Given the description of an element on the screen output the (x, y) to click on. 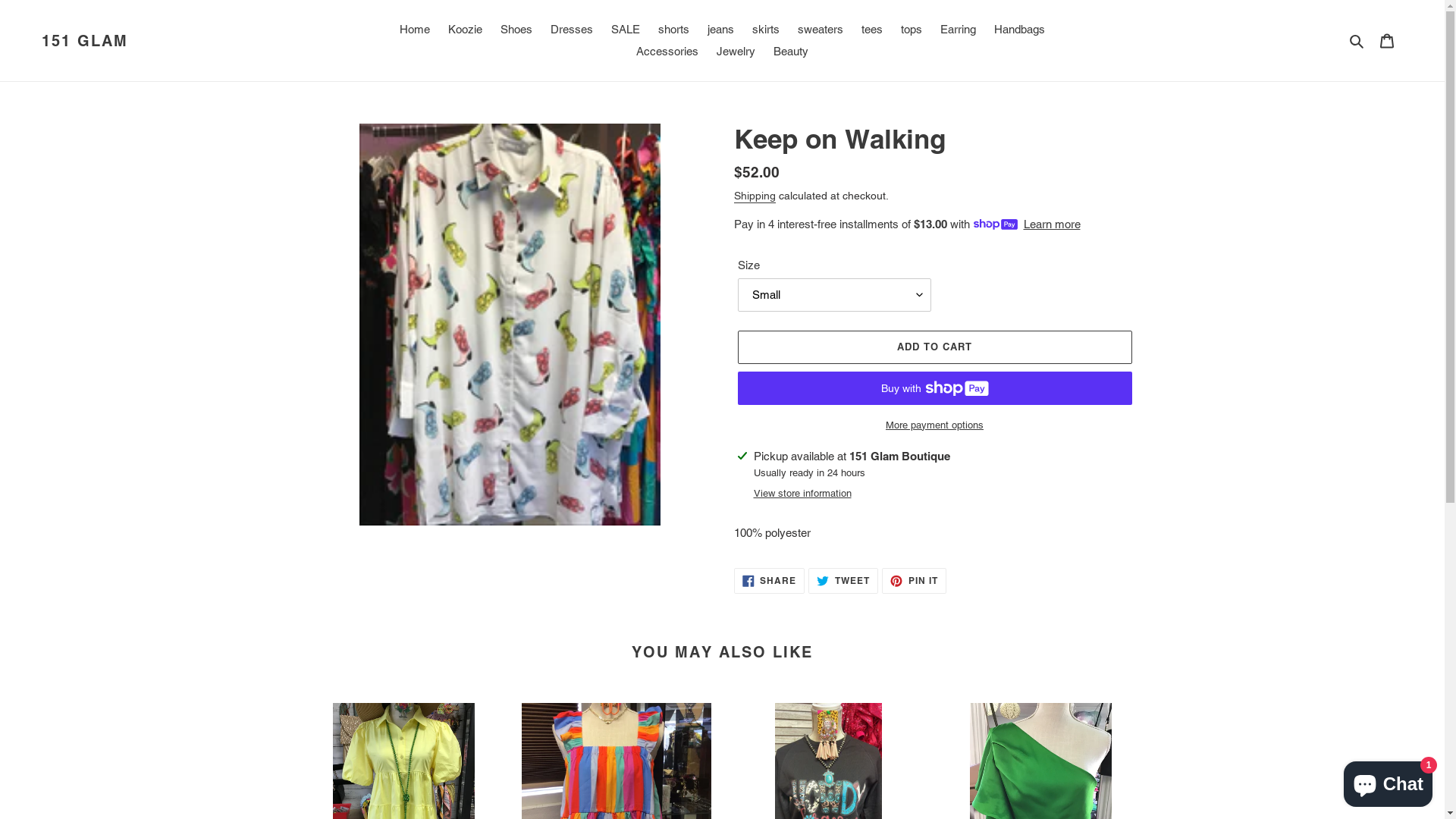
ADD TO CART Element type: text (934, 347)
TWEET
TWEET ON TWITTER Element type: text (843, 580)
Beauty Element type: text (790, 51)
Shipping Element type: text (754, 196)
Koozie Element type: text (464, 29)
Earring Element type: text (957, 29)
skirts Element type: text (765, 29)
Shoes Element type: text (515, 29)
tops Element type: text (911, 29)
More payment options Element type: text (934, 425)
Cart Element type: text (1386, 40)
SHARE
SHARE ON FACEBOOK Element type: text (769, 580)
sweaters Element type: text (820, 29)
Jewelry Element type: text (735, 51)
jeans Element type: text (720, 29)
Dresses Element type: text (571, 29)
Accessories Element type: text (667, 51)
SALE Element type: text (625, 29)
Shopify online store chat Element type: hover (1388, 780)
Search Element type: text (1357, 40)
shorts Element type: text (673, 29)
PIN IT
PIN ON PINTEREST Element type: text (913, 580)
Handbags Element type: text (1019, 29)
View store information Element type: text (802, 493)
Home Element type: text (414, 29)
tees Element type: text (871, 29)
151 GLAM Element type: text (84, 40)
